Given the description of an element on the screen output the (x, y) to click on. 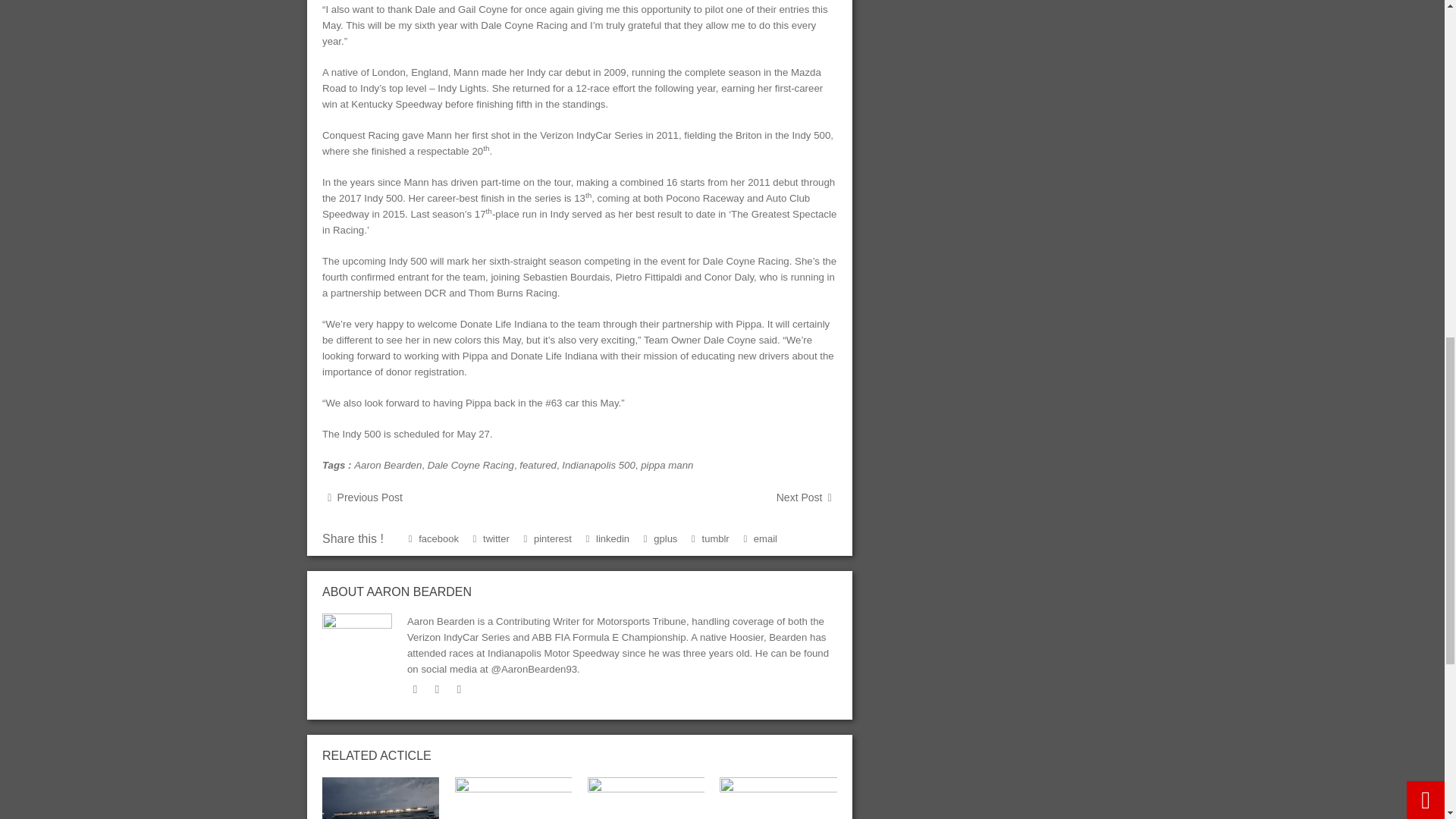
Posts by Aaron Bearden (418, 591)
facebook (437, 688)
Power Gains Ground on Palou with Portland Victory (646, 798)
email (459, 688)
twitter (415, 688)
NASCAR Announces 2025 National Series Schedules (380, 798)
NASCAR Cup Series Announces Mexico City Event in 2025 (513, 798)
